Given the description of an element on the screen output the (x, y) to click on. 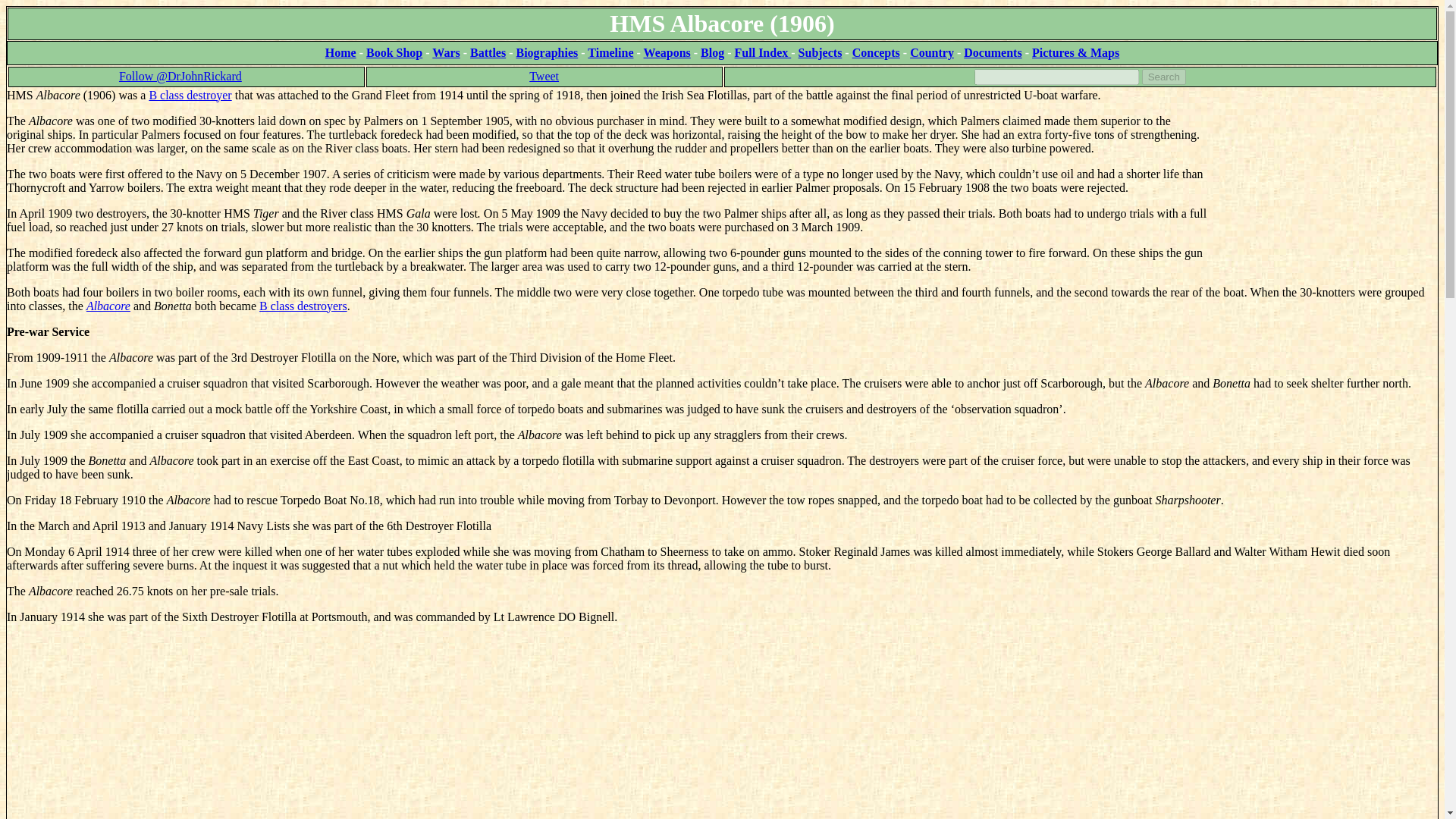
Search (1163, 76)
Wars (446, 51)
Index of biographies (546, 51)
Documents (992, 51)
B class destroyer (189, 94)
Home (340, 51)
Biographies (546, 51)
Timeline of Military History (610, 51)
Weapons (666, 51)
Link to our blog (711, 51)
Our Military History Bookshop (394, 51)
Full Index (763, 51)
Albacore (108, 305)
Special Subject Indexes (820, 51)
indexes organised by country (931, 51)
